Given the description of an element on the screen output the (x, y) to click on. 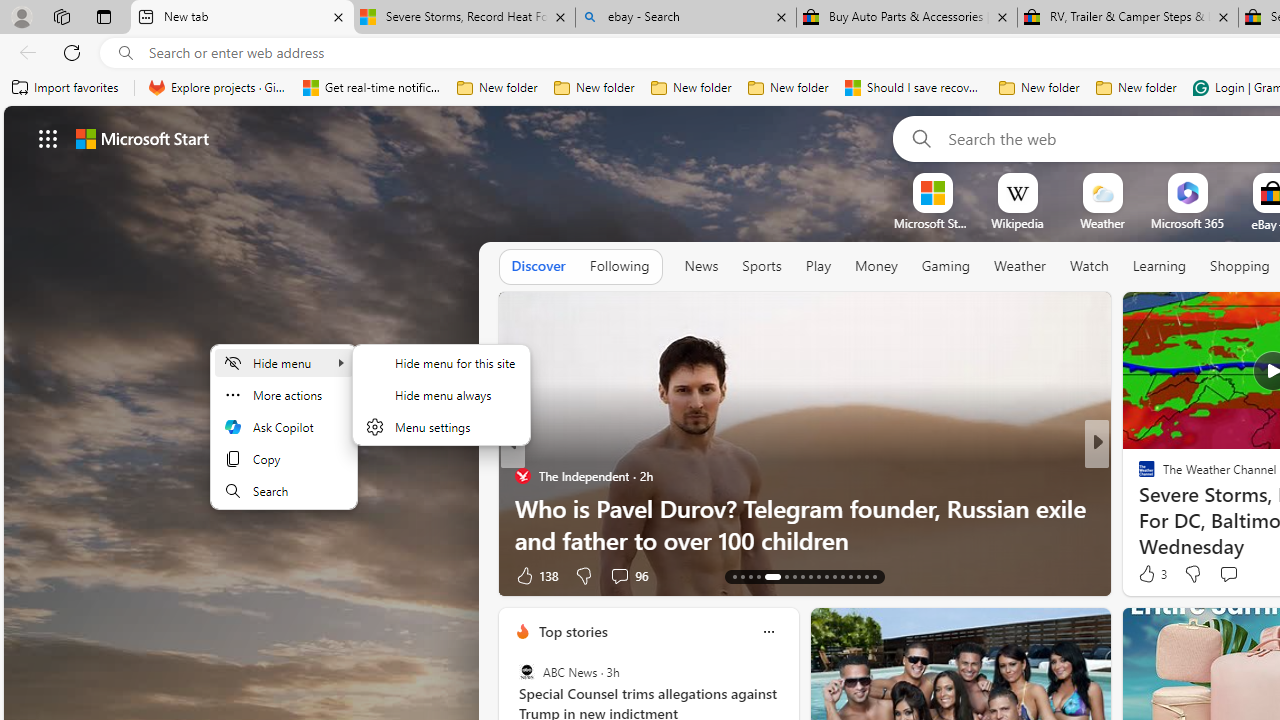
Money (876, 267)
Hide menu always (441, 394)
AutomationID: tab-16 (757, 576)
Weather (1019, 267)
USA TODAY (1138, 475)
RV, Trailer & Camper Steps & Ladders for sale | eBay (1127, 17)
AutomationID: tab-19 (793, 576)
Money (875, 265)
Microsoft start (142, 138)
View comments 167 Comment (1234, 575)
Learning (1159, 265)
Hide menu (441, 394)
